Given the description of an element on the screen output the (x, y) to click on. 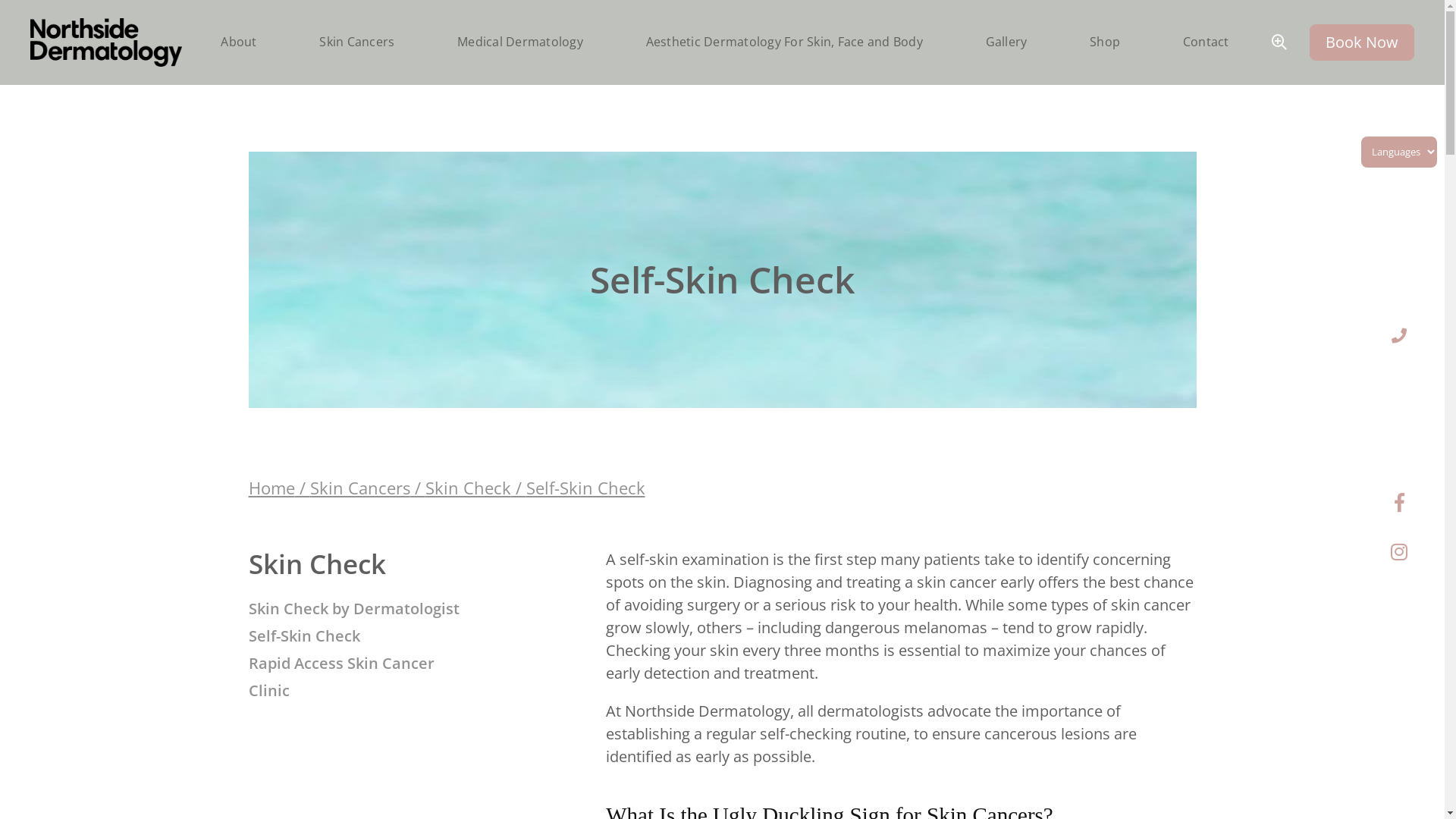
Home Element type: text (271, 487)
Skin Check Element type: text (467, 487)
About Element type: text (238, 42)
Skin Cancers Element type: text (359, 487)
Shop Element type: text (1104, 42)
Rapid Access Skin Cancer Clinic Element type: text (358, 676)
Skin Check by Dermatologist Element type: text (358, 608)
Self-Skin Check Element type: text (358, 635)
Contact Element type: text (1205, 42)
Gallery Element type: text (1006, 42)
Go Element type: text (722, 13)
Medical Dermatology Element type: text (520, 42)
Aesthetic Dermatology For Skin, Face and Body Element type: text (784, 42)
Book Now Element type: text (1361, 42)
Skin Cancers Element type: text (356, 42)
